Given the description of an element on the screen output the (x, y) to click on. 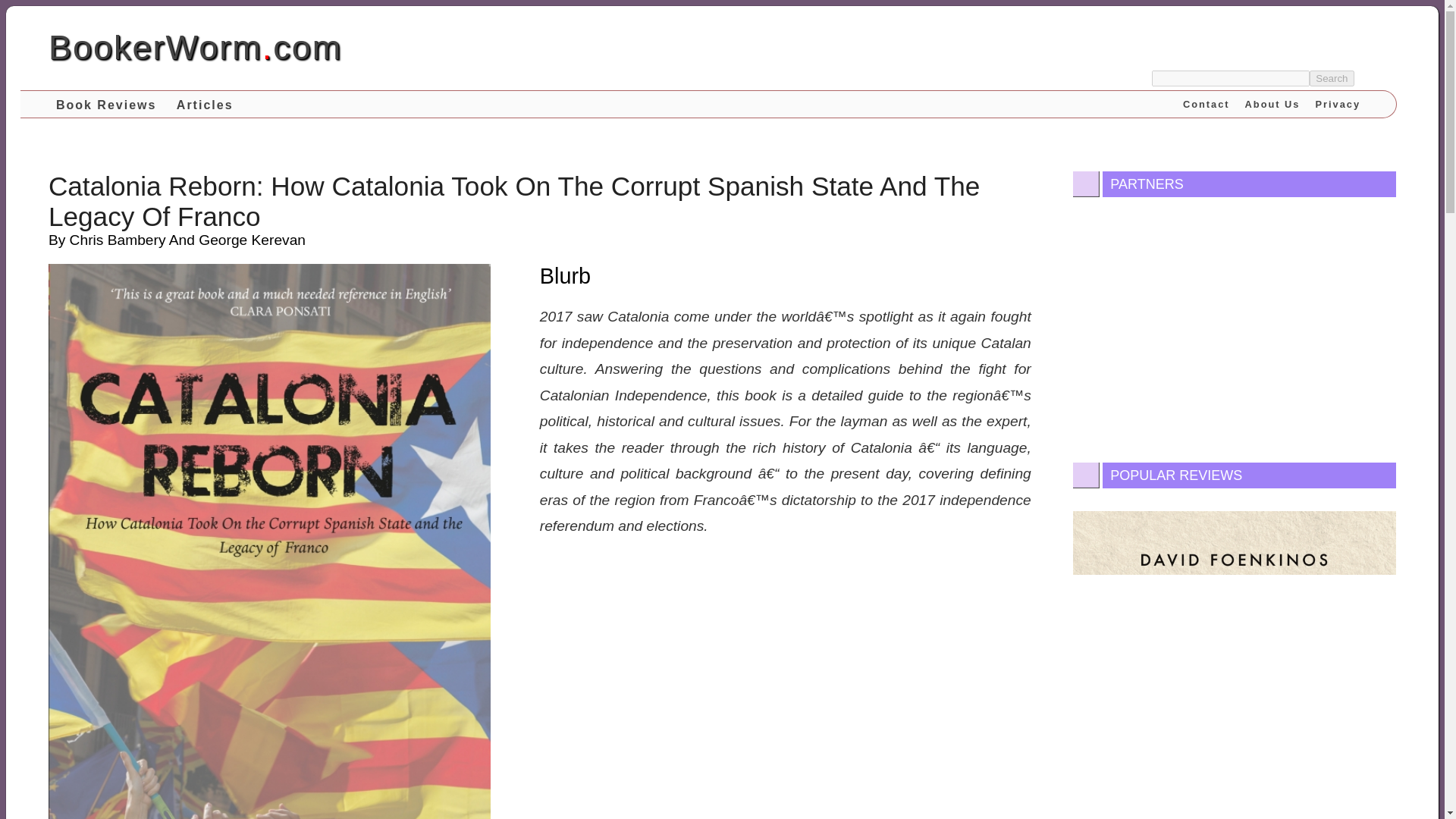
Contact (1205, 102)
Search (1331, 78)
Privacy (1337, 102)
Book Reviews (105, 103)
Articles (204, 103)
BookerWorm.com (195, 46)
About Us (1272, 102)
